Given the description of an element on the screen output the (x, y) to click on. 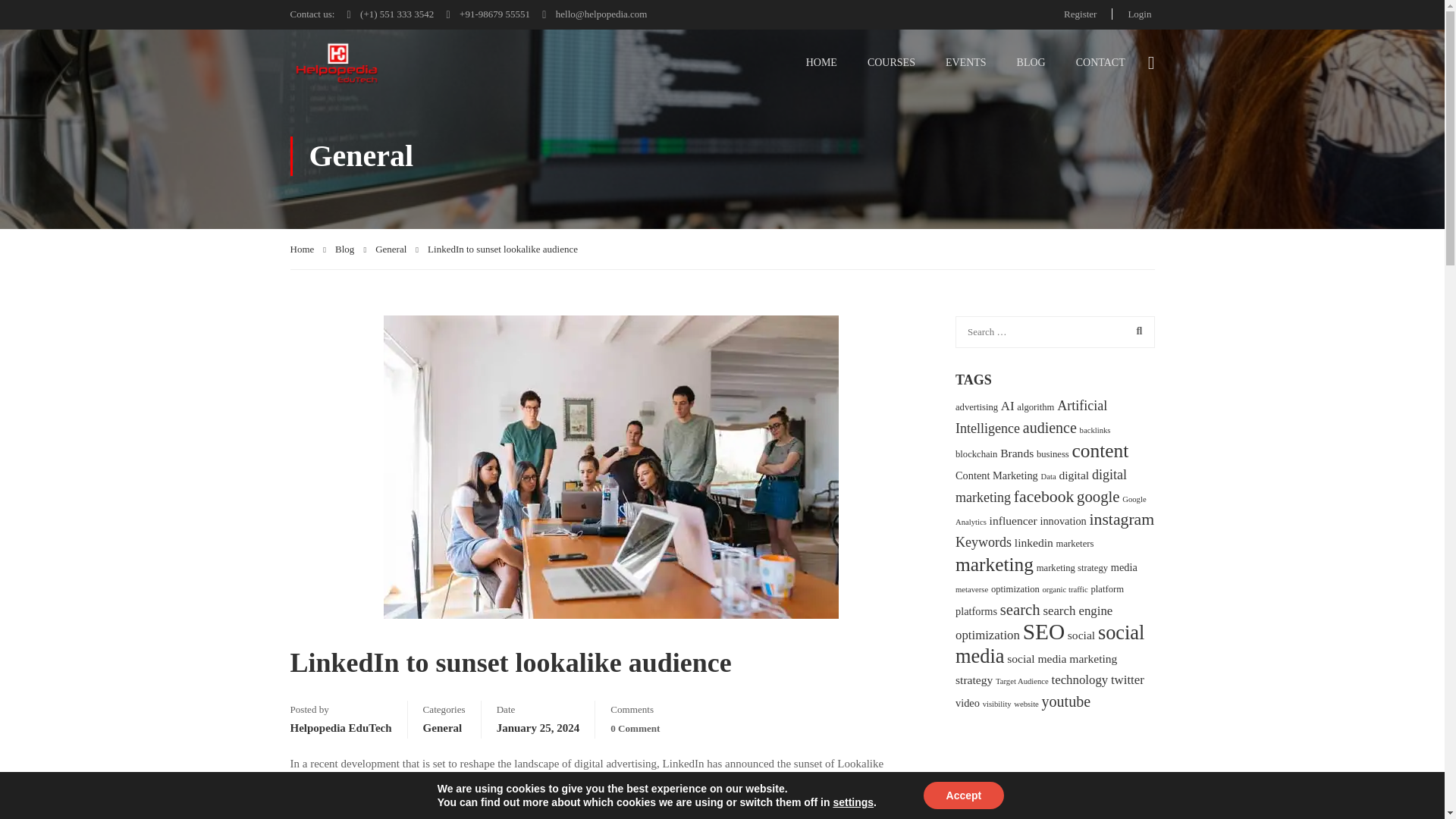
General (397, 249)
Home (307, 249)
BLOG (1031, 62)
Search (1135, 331)
EVENTS (965, 62)
advertising (976, 407)
CONTACT (1100, 62)
Search (1135, 331)
COURSES (890, 62)
